Given the description of an element on the screen output the (x, y) to click on. 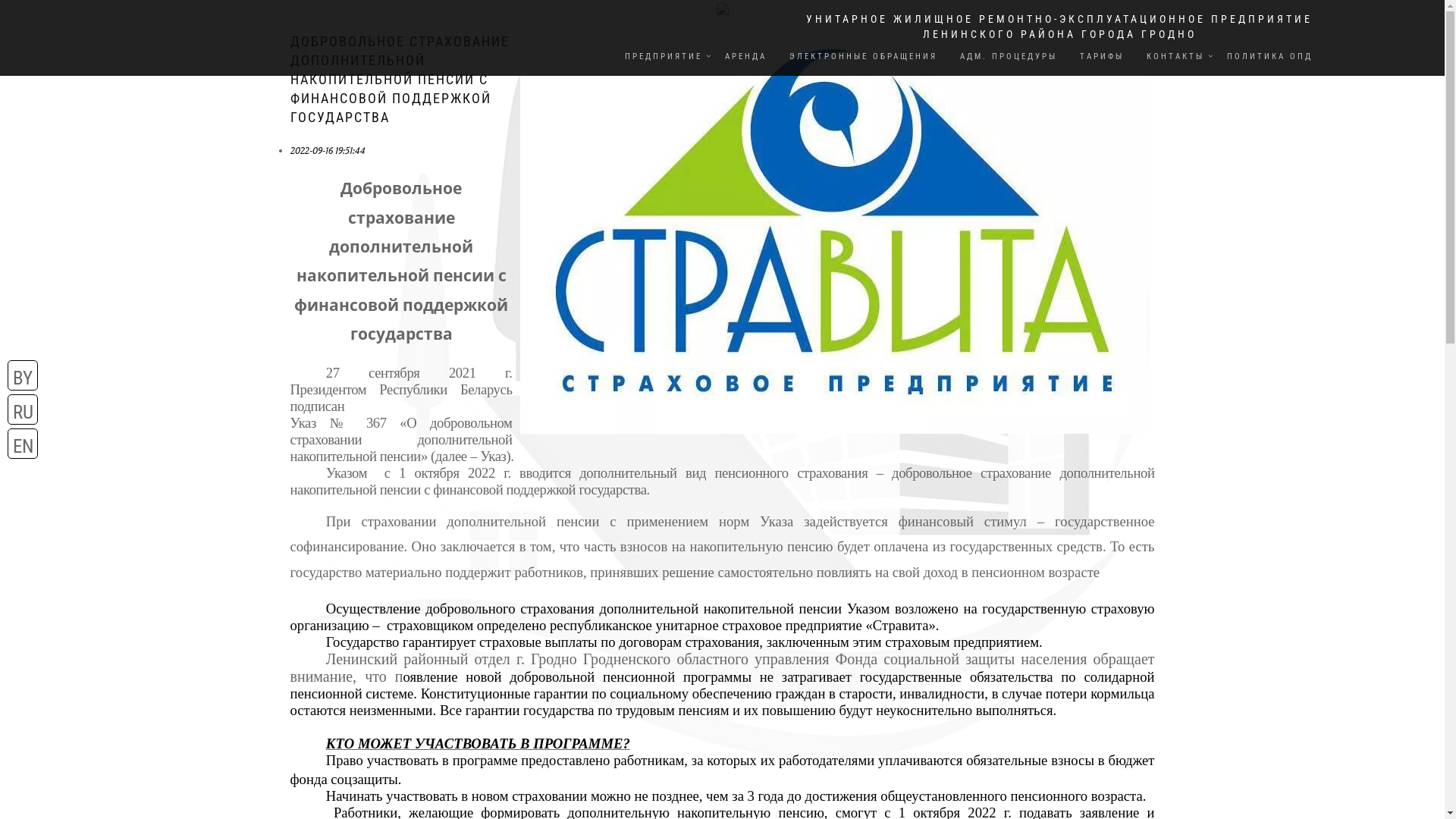
RU Element type: text (22, 409)
BY Element type: text (22, 375)
EN Element type: text (22, 443)
2022-09-16 19:51:44 Element type: text (326, 150)
